Given the description of an element on the screen output the (x, y) to click on. 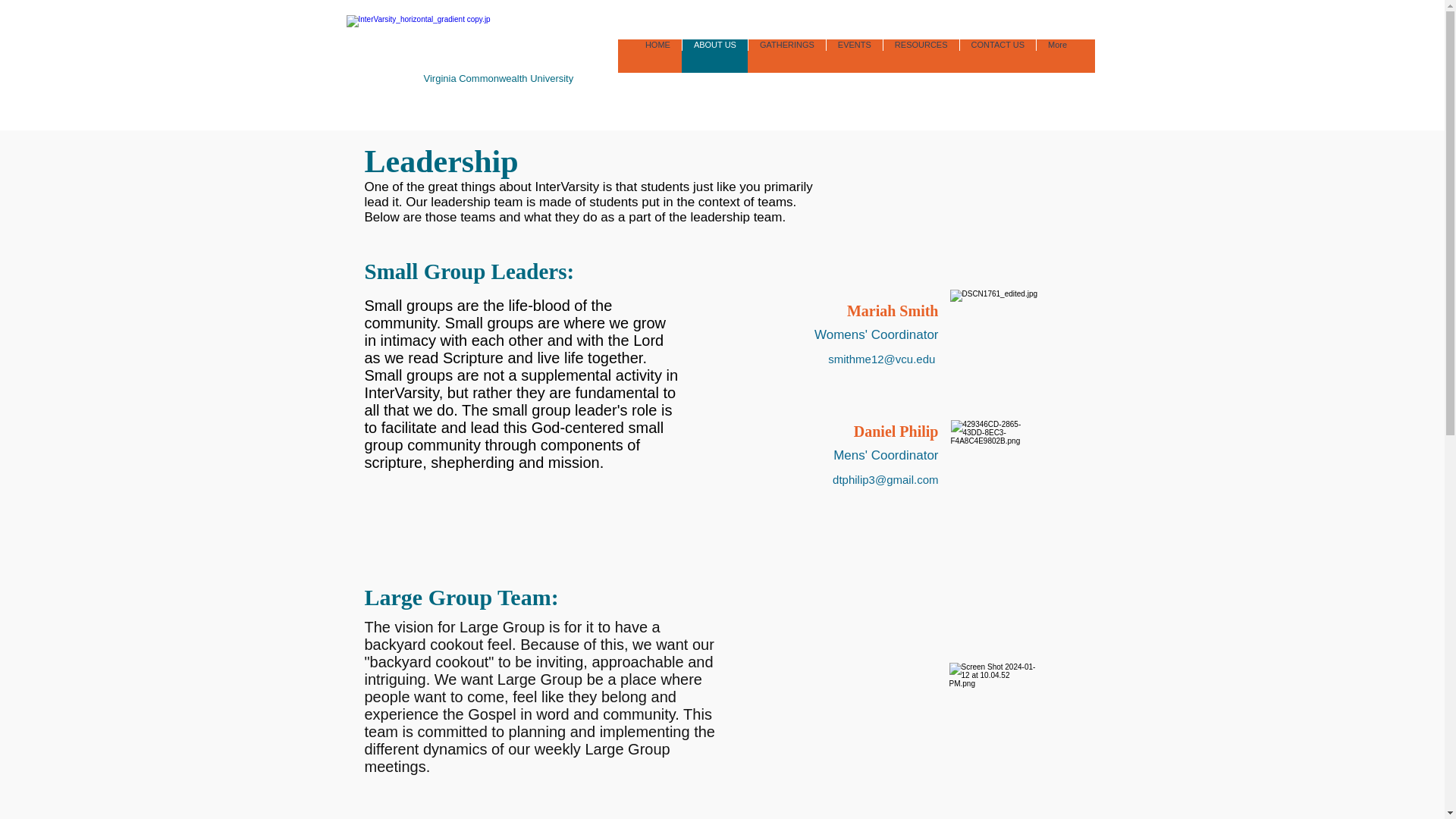
Screen Shot 2018-08-15 at 2.02.49 PM.png (994, 468)
HOME (657, 55)
RESOURCES (920, 55)
ABOUT US (714, 55)
EVENTS (853, 55)
CONTACT US (997, 55)
GATHERINGS (786, 55)
